Given the description of an element on the screen output the (x, y) to click on. 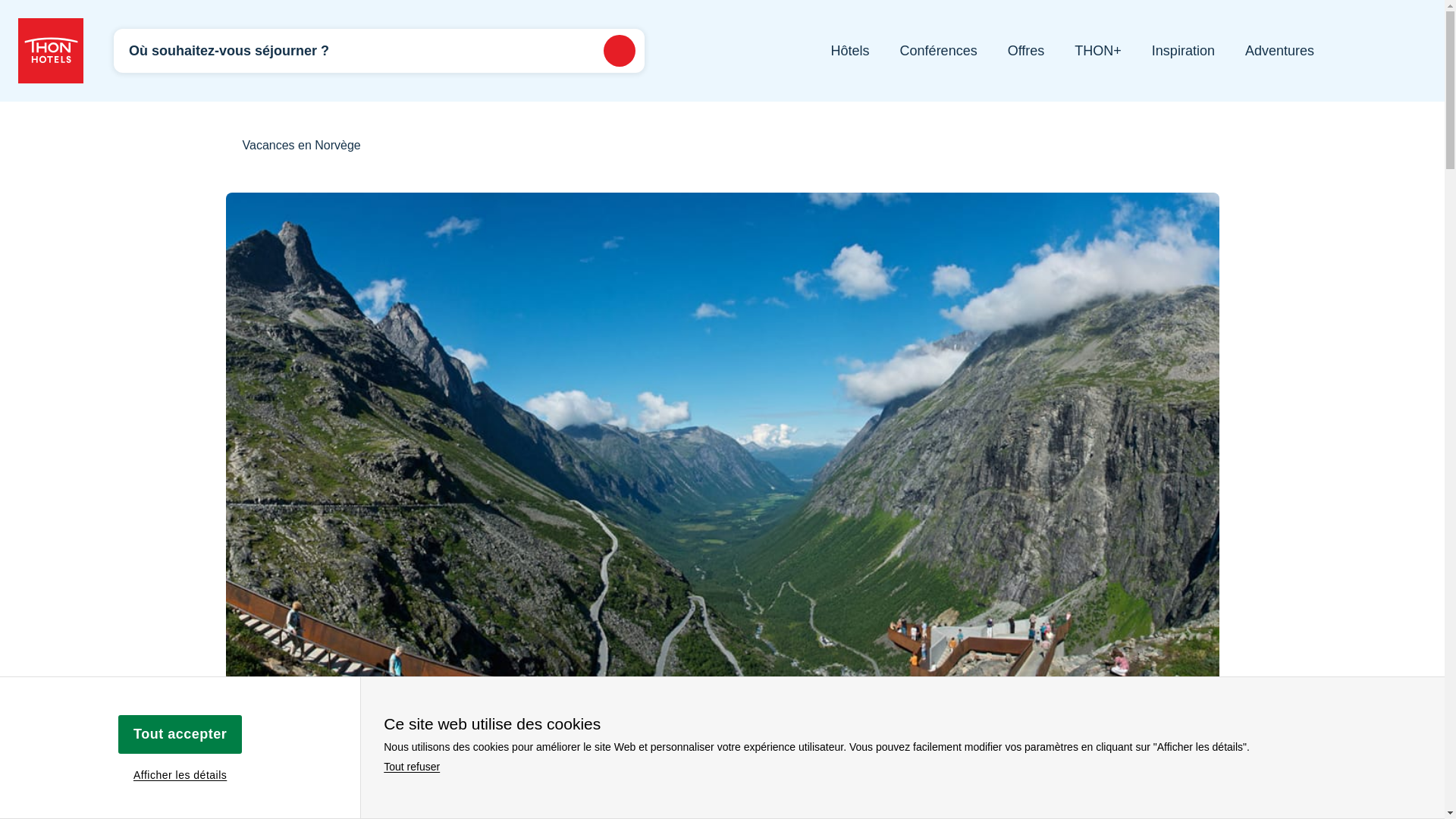
Tout accepter (179, 733)
Tout refuser (411, 766)
